Given the description of an element on the screen output the (x, y) to click on. 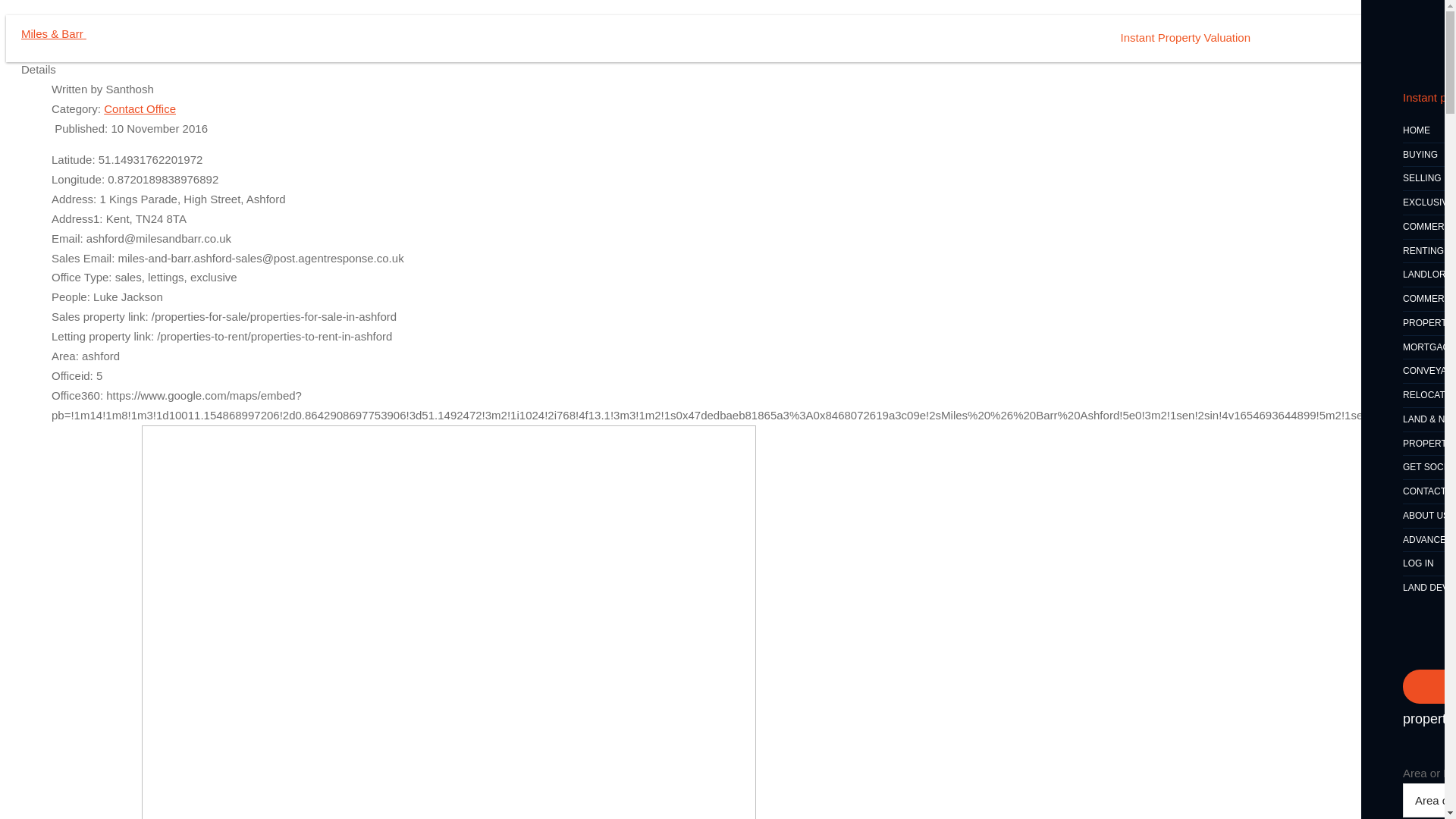
Instant Property Valuation (1185, 37)
Contact Office (139, 108)
MENU (1382, 39)
